Given the description of an element on the screen output the (x, y) to click on. 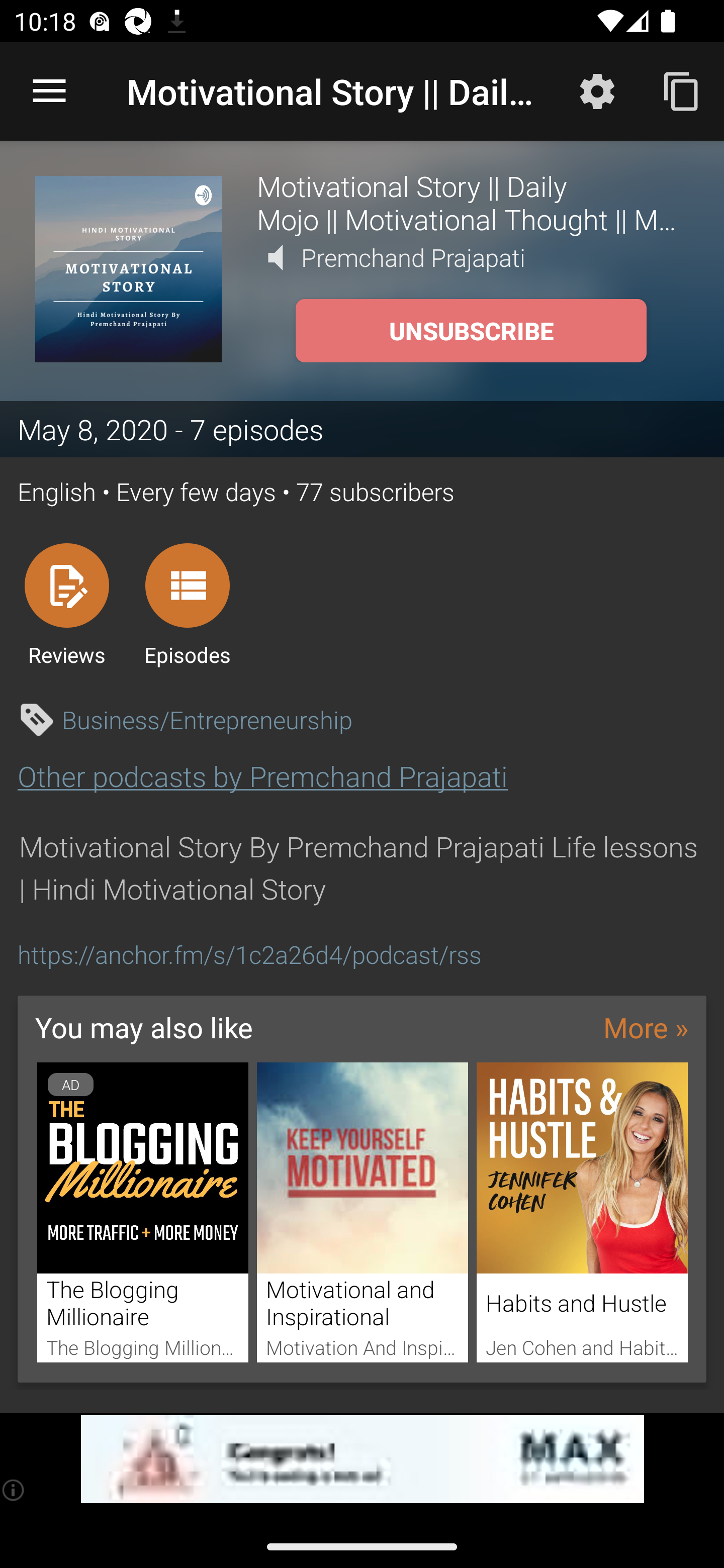
Open navigation sidebar (49, 91)
Settings (597, 90)
Copy feed url to clipboard (681, 90)
UNSUBSCRIBE (470, 330)
Reviews (66, 604)
Episodes (187, 604)
Other podcasts by Premchand Prajapati (262, 775)
More » (645, 1026)
Habits and Hustle Jen Cohen and Habit Nest (581, 1212)
app-monetization (362, 1459)
(i) (14, 1489)
